Given the description of an element on the screen output the (x, y) to click on. 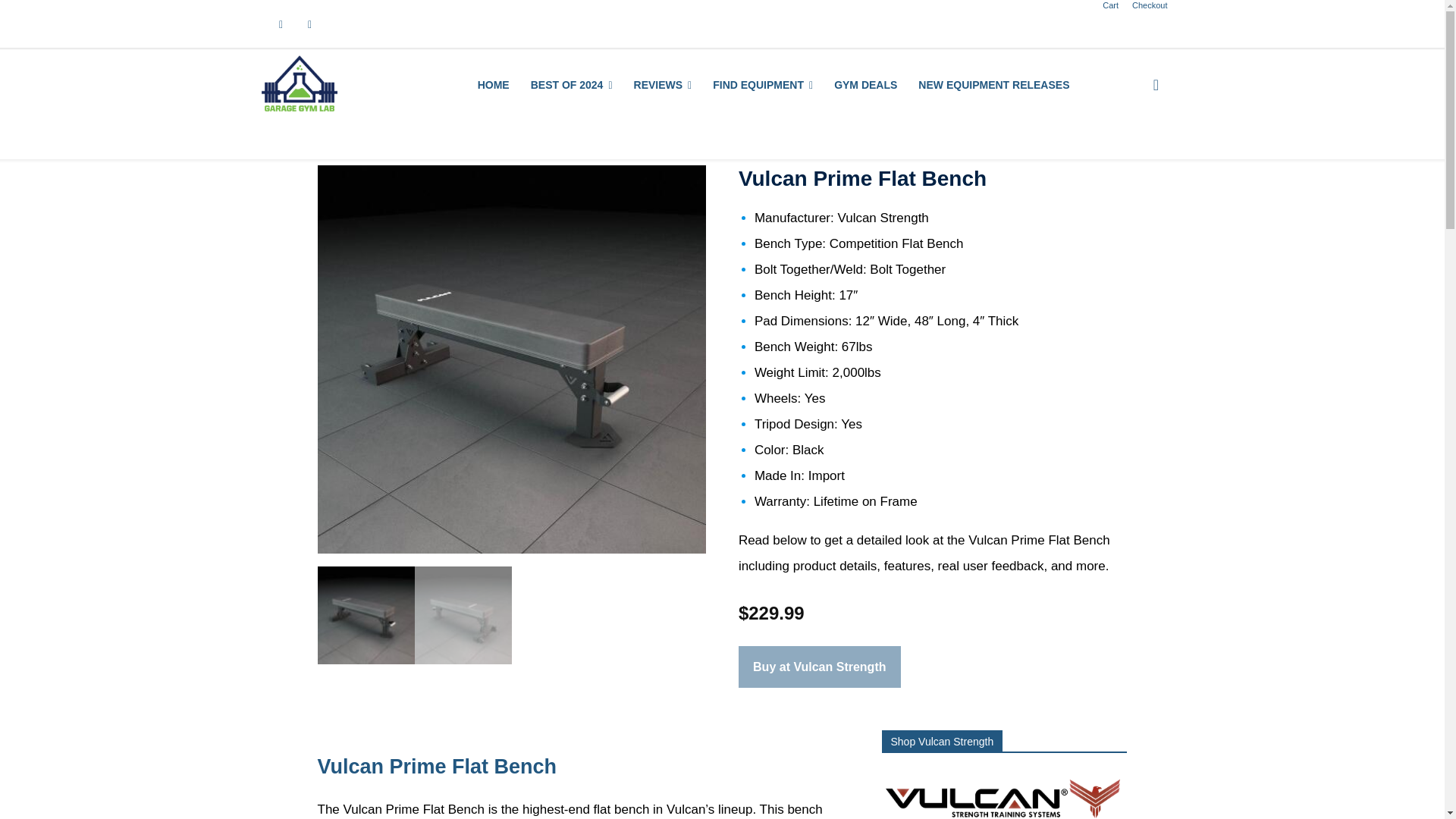
Instagram (280, 24)
YouTube (309, 24)
Shop Vulcan Strength (1003, 796)
